Given the description of an element on the screen output the (x, y) to click on. 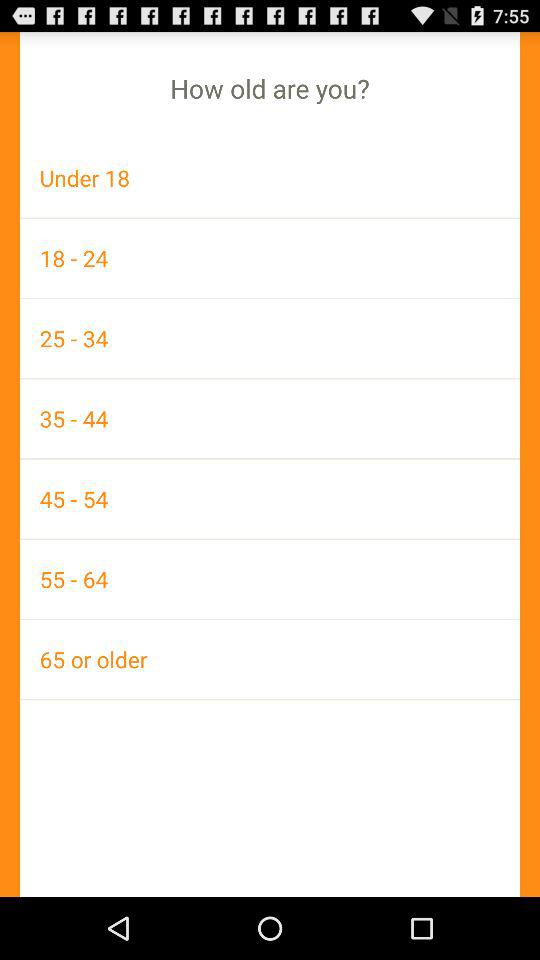
press icon below 55 - 64 (269, 659)
